Given the description of an element on the screen output the (x, y) to click on. 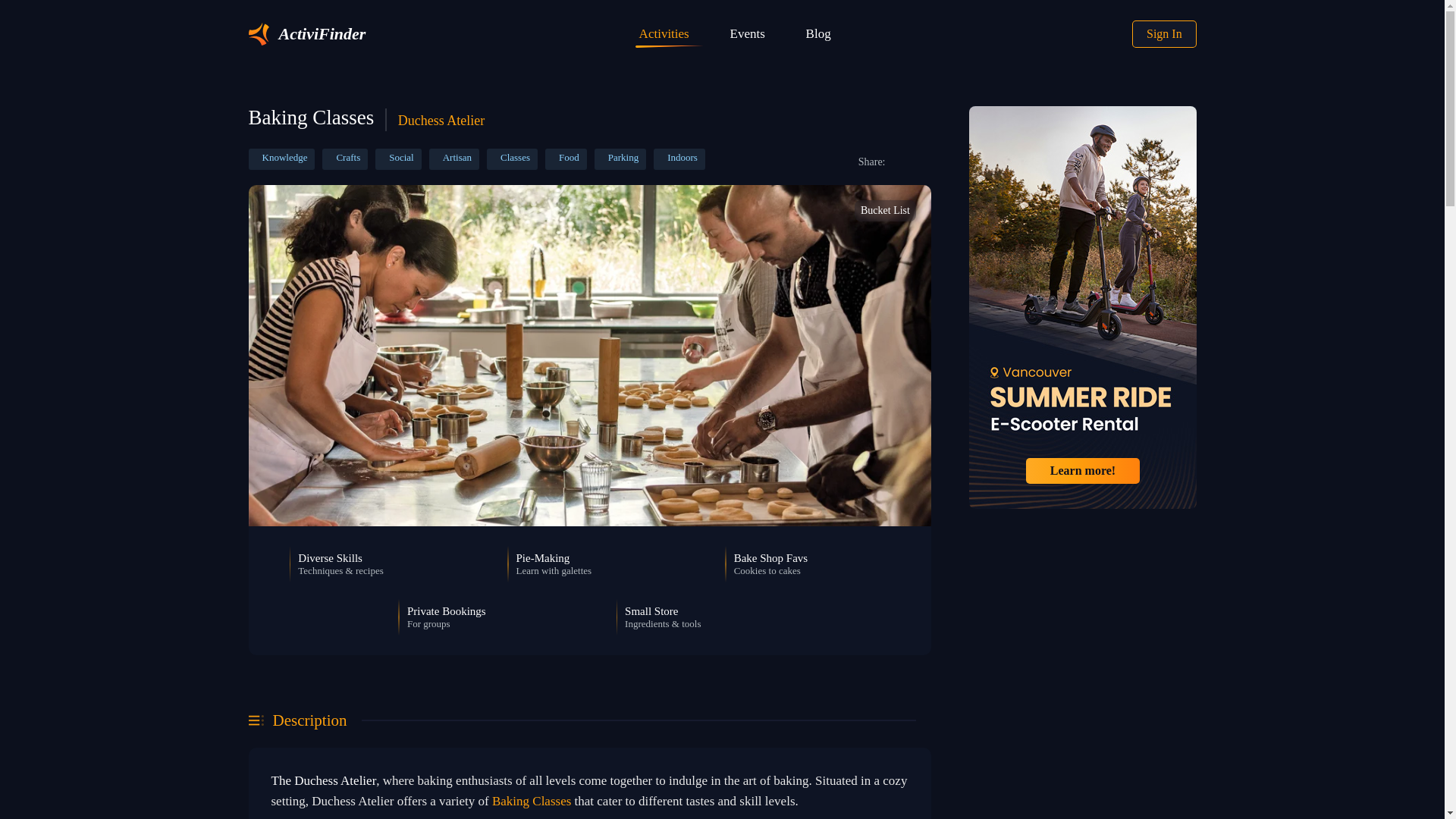
Blog (824, 34)
Events (752, 34)
Learn more! (1081, 470)
Activities (668, 34)
ActiviFinder (307, 33)
